Given the description of an element on the screen output the (x, y) to click on. 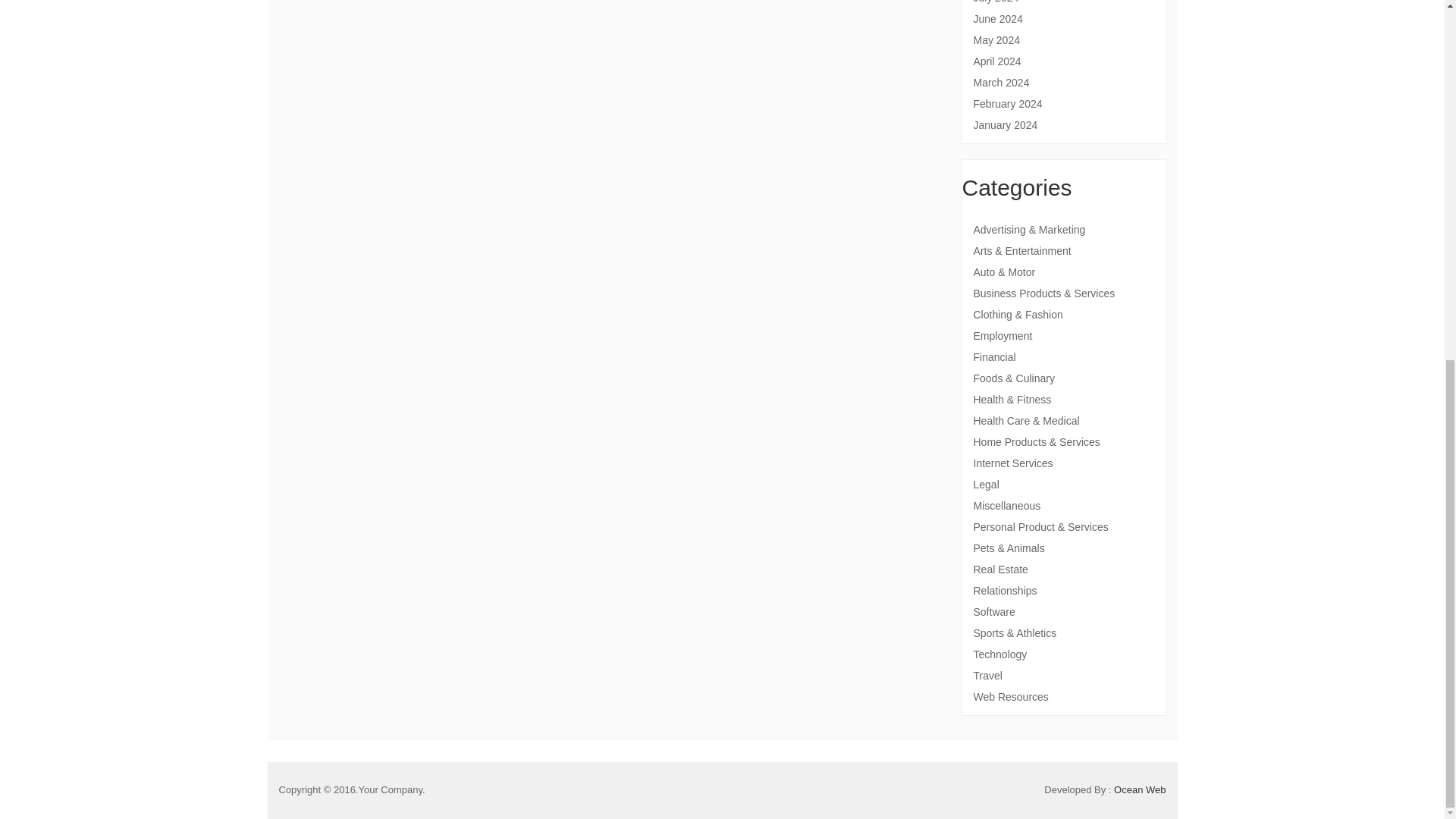
July 2024 (1064, 2)
June 2024 (1064, 18)
January 2024 (1064, 125)
March 2024 (1064, 82)
February 2024 (1064, 103)
April 2024 (1064, 61)
May 2024 (1064, 39)
